Given the description of an element on the screen output the (x, y) to click on. 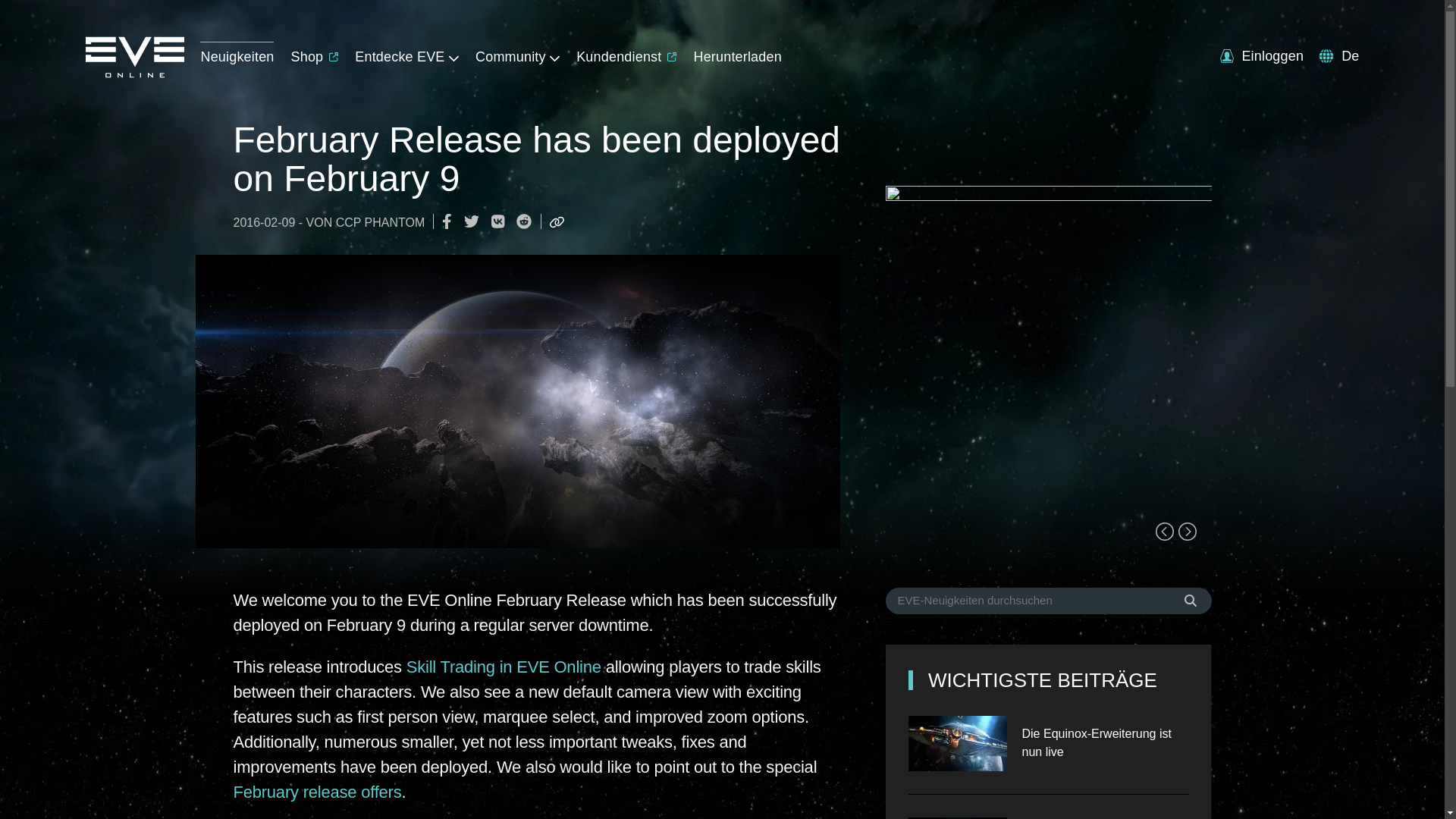
Herunterladen (736, 53)
Shop (315, 53)
Kundendienst (626, 53)
Neuigkeiten (236, 53)
Home (133, 72)
Einloggen (1261, 55)
